Given the description of an element on the screen output the (x, y) to click on. 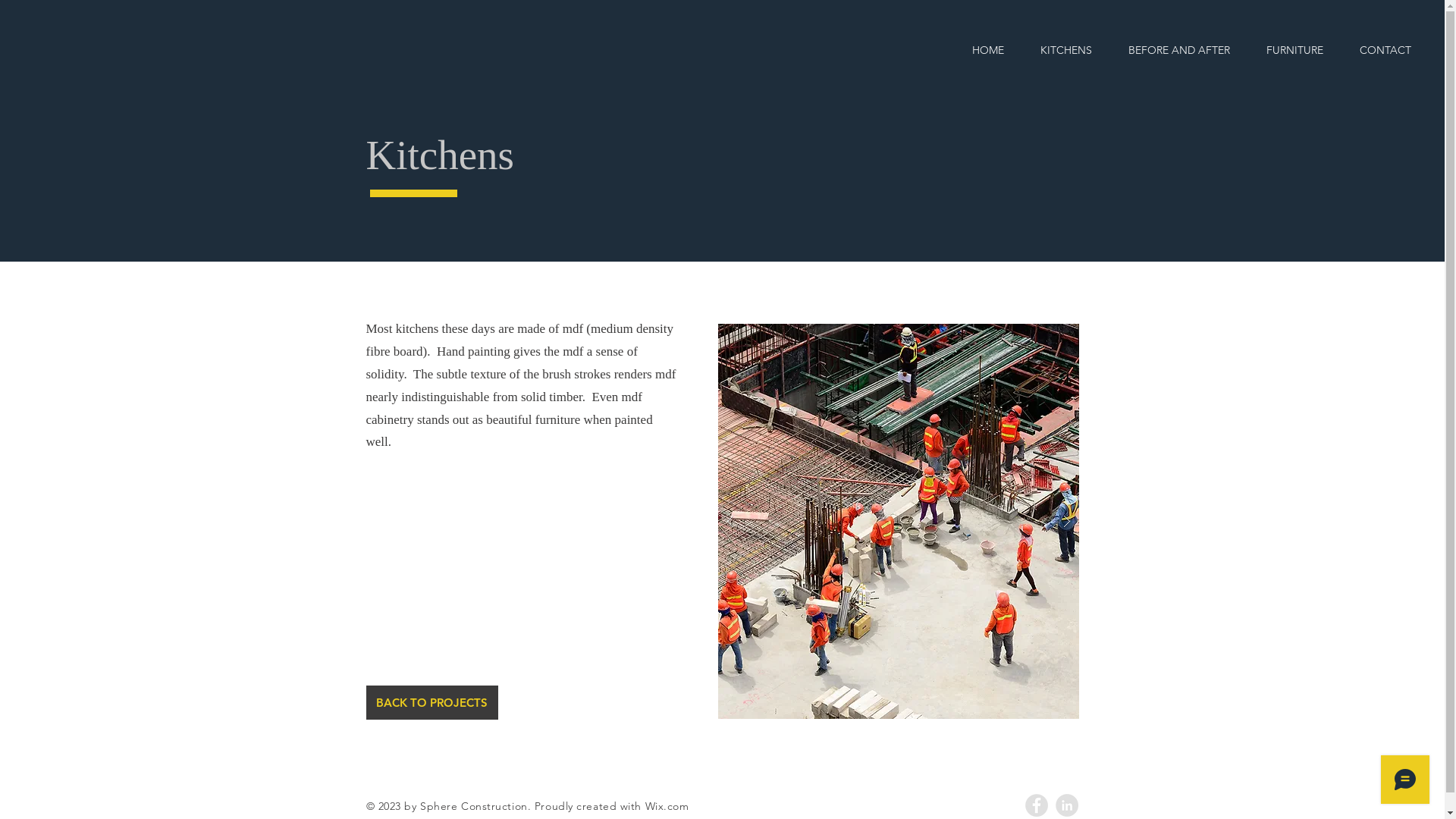
FURNITURE Element type: text (1294, 50)
Wix.com Element type: text (667, 805)
HOME Element type: text (987, 50)
KITCHENS Element type: text (1066, 50)
BEFORE AND AFTER Element type: text (1179, 50)
CONTACT Element type: text (1385, 50)
BACK TO PROJECTS Element type: text (431, 702)
